Given the description of an element on the screen output the (x, y) to click on. 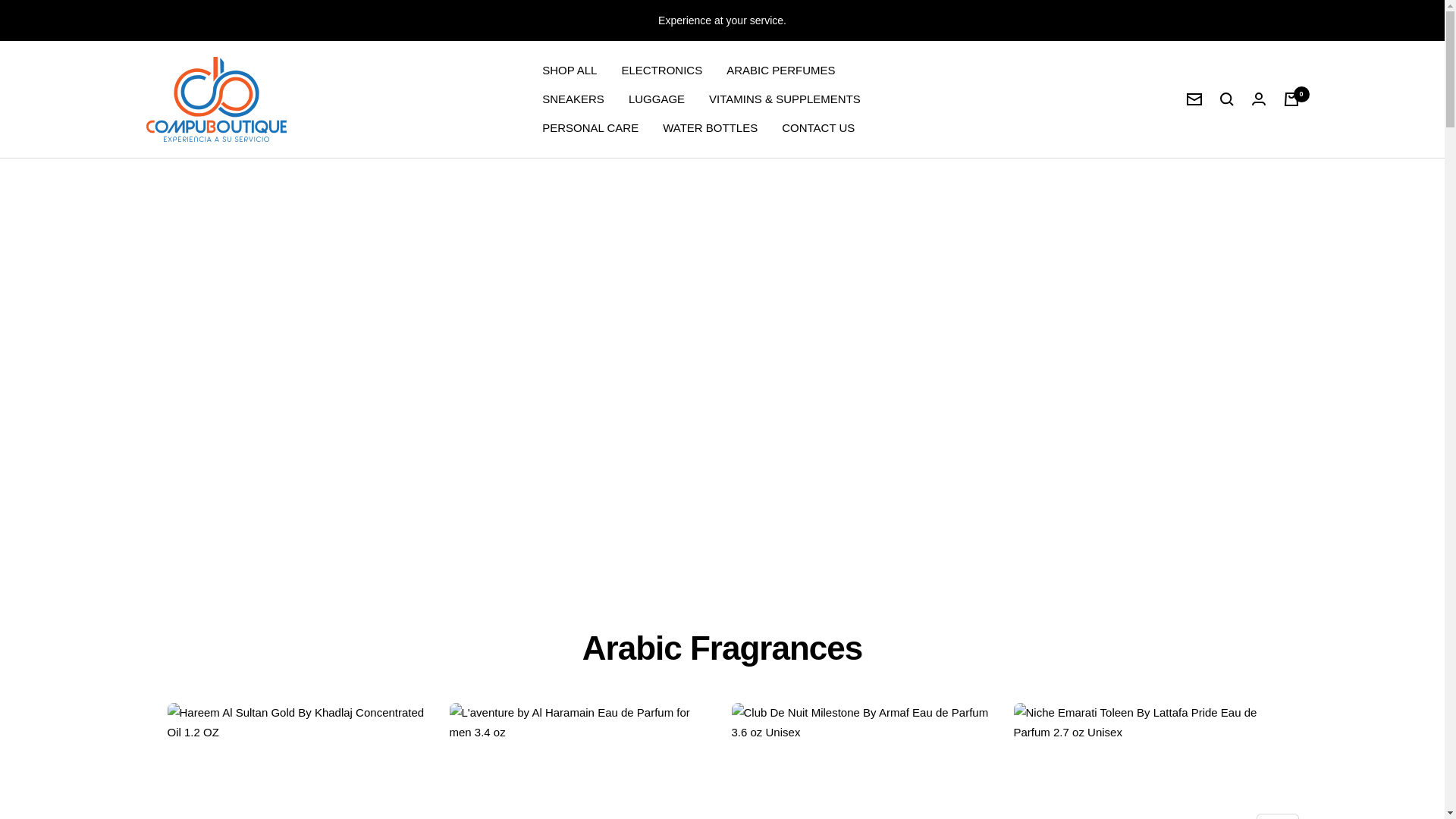
CompuBoutique (215, 98)
0 (1291, 99)
ARABIC PERFUMES (780, 70)
WATER BOTTLES (709, 127)
PERSONAL CARE (590, 127)
Newsletter (1194, 99)
SHOP ALL (568, 70)
CONTACT US (817, 127)
SNEAKERS (572, 98)
ELECTRONICS (661, 70)
LUGGAGE (656, 98)
